Given the description of an element on the screen output the (x, y) to click on. 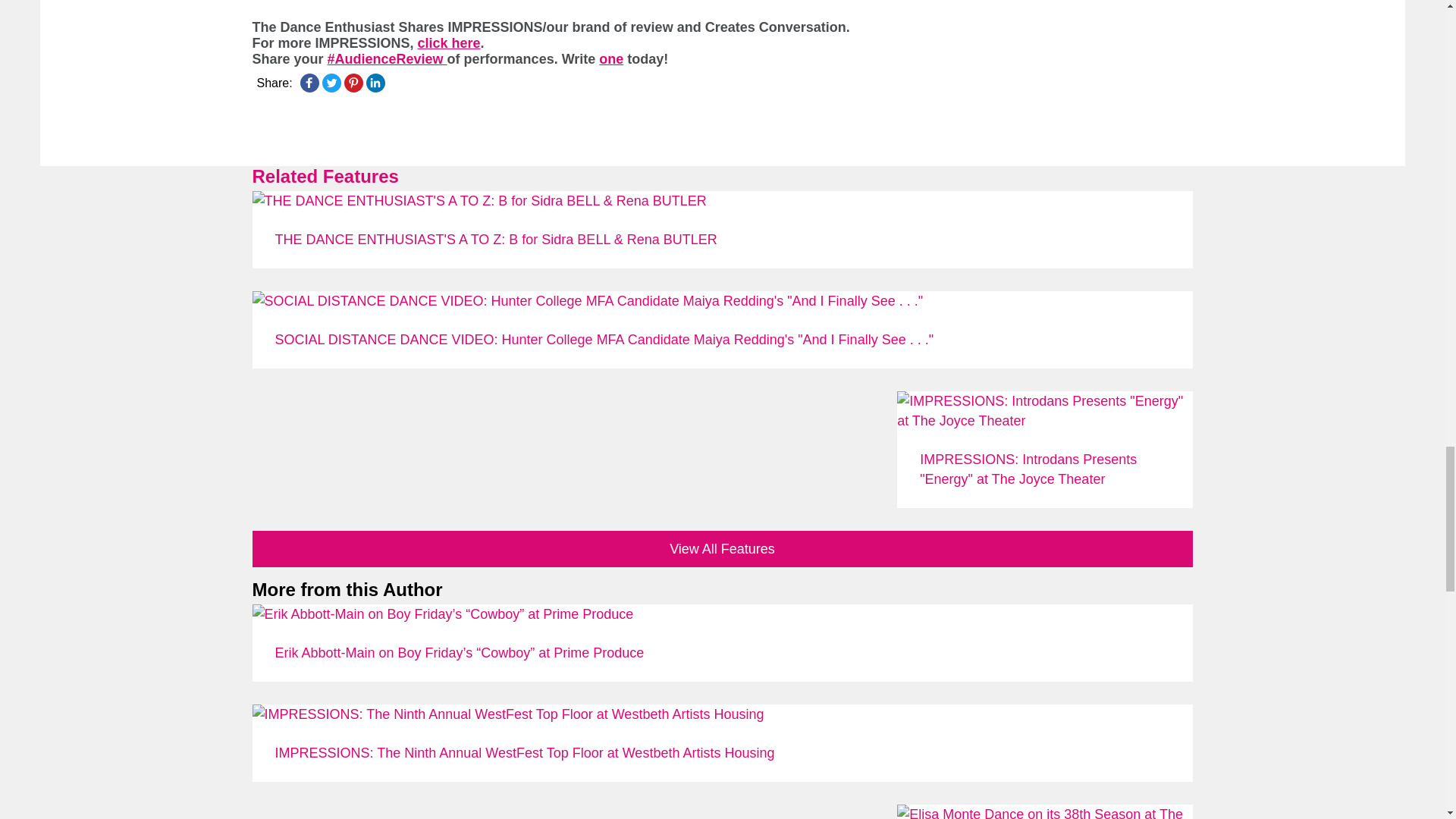
Twitter (331, 82)
Facebook (309, 82)
LinkedIn (375, 82)
Pinterest (353, 82)
